Given the description of an element on the screen output the (x, y) to click on. 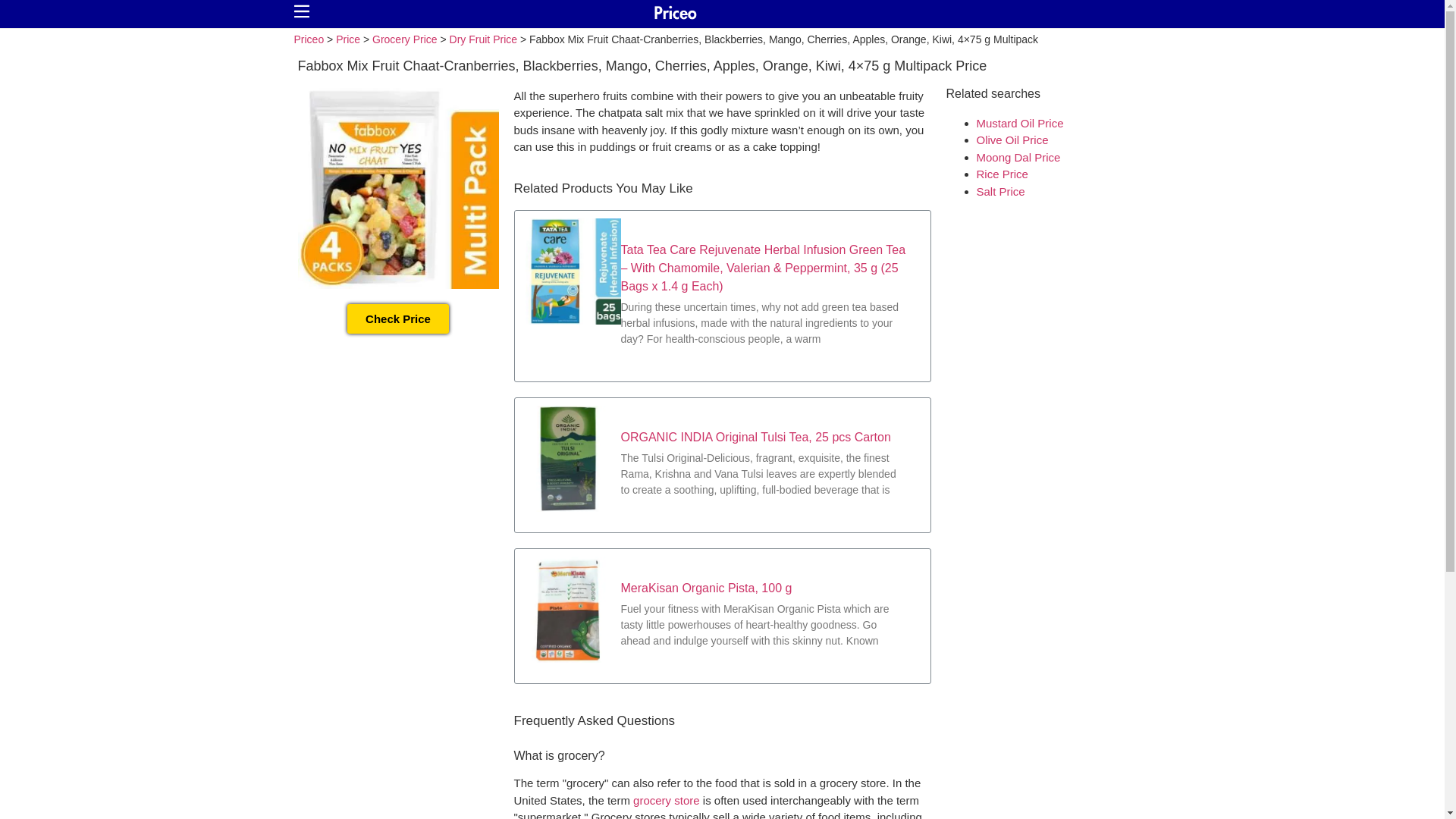
Rice Price (1001, 173)
grocery store (666, 799)
MeraKisan Organic Pista, 100 g (706, 587)
Salt Price (1000, 191)
Check Price (397, 317)
Mustard Oil Price (1020, 123)
Olive Oil Price (1012, 139)
Moong Dal Price (1018, 155)
Grocery Price (405, 39)
Price (347, 39)
